Given the description of an element on the screen output the (x, y) to click on. 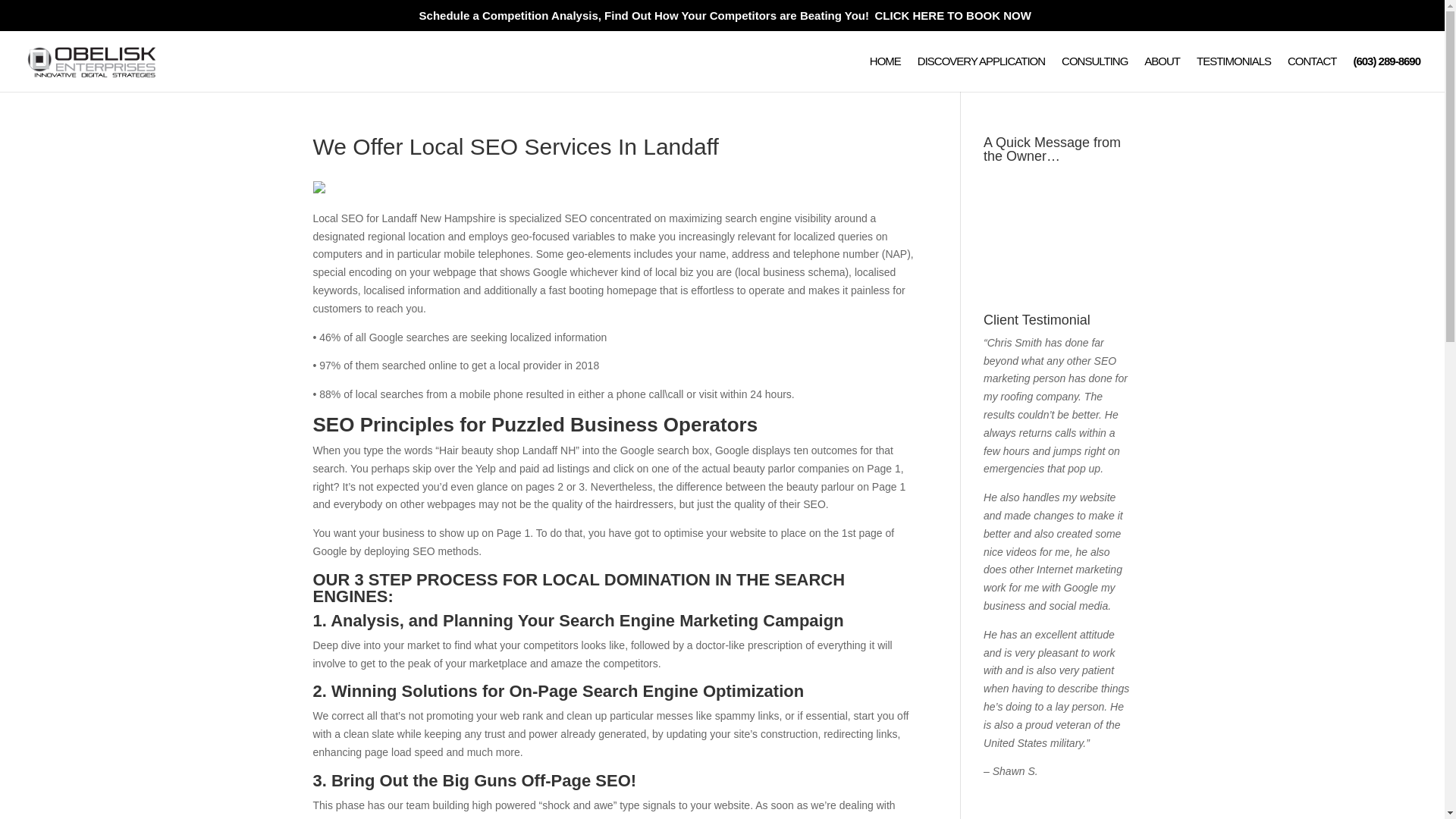
DISCOVERY APPLICATION (981, 73)
CONTACT (1311, 73)
TESTIMONIALS (1233, 73)
CLICK HERE TO BOOK NOW (952, 15)
ABOUT (1161, 73)
CONSULTING (1093, 73)
